Given the description of an element on the screen output the (x, y) to click on. 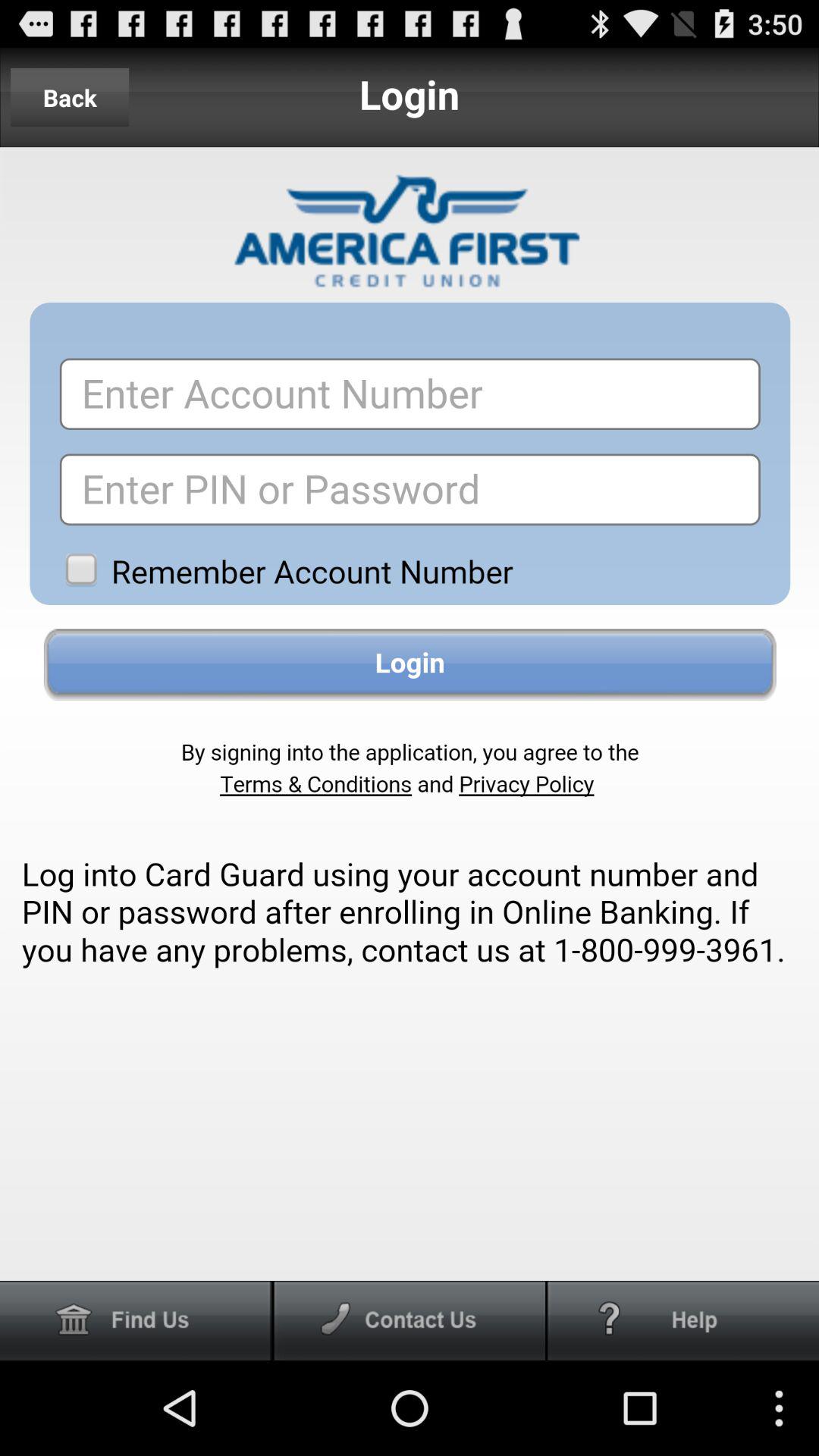
help option (683, 1320)
